Given the description of an element on the screen output the (x, y) to click on. 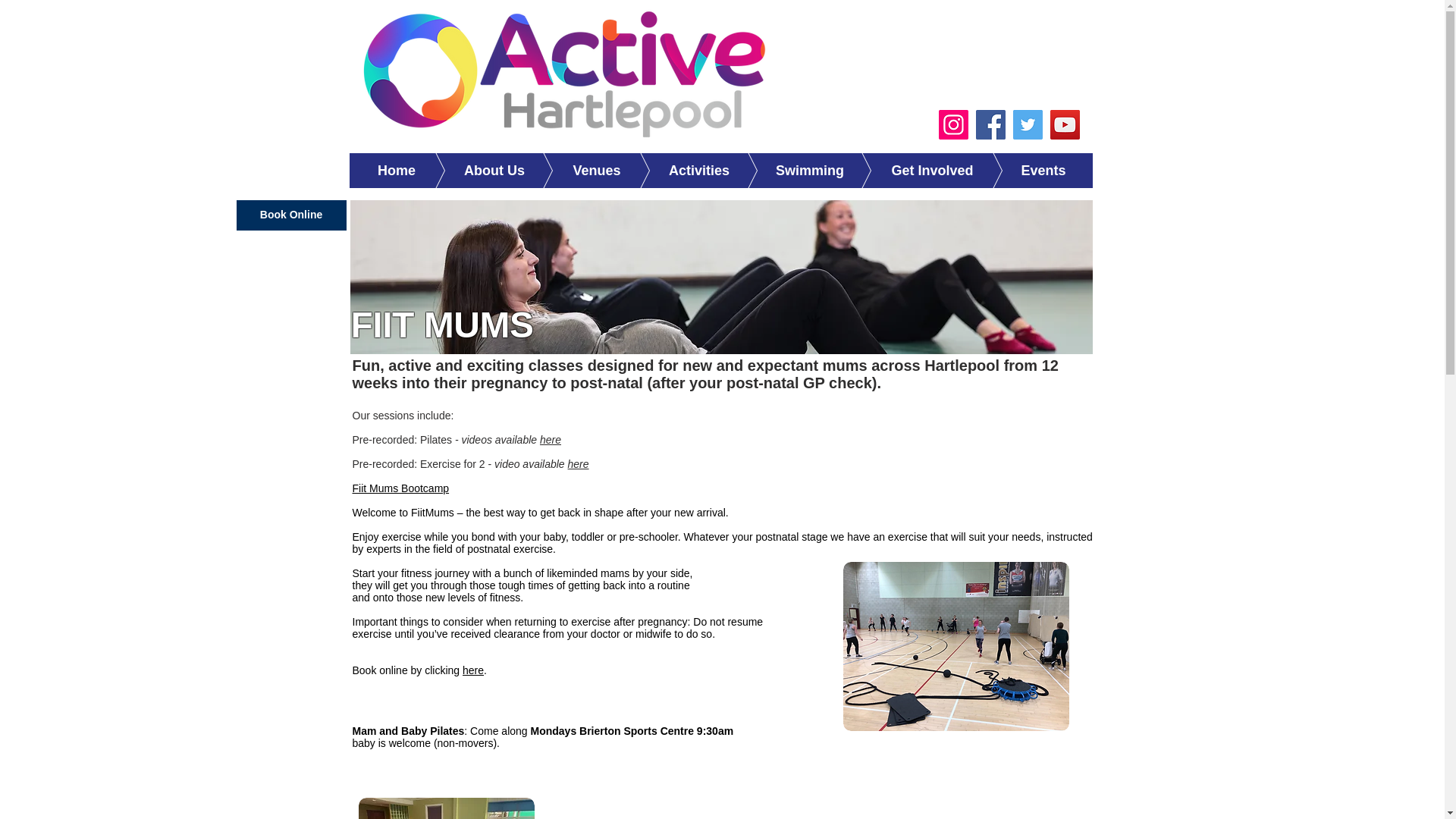
Home (396, 170)
About Us (471, 170)
Mums on the Move Logo (721, 276)
